Given the description of an element on the screen output the (x, y) to click on. 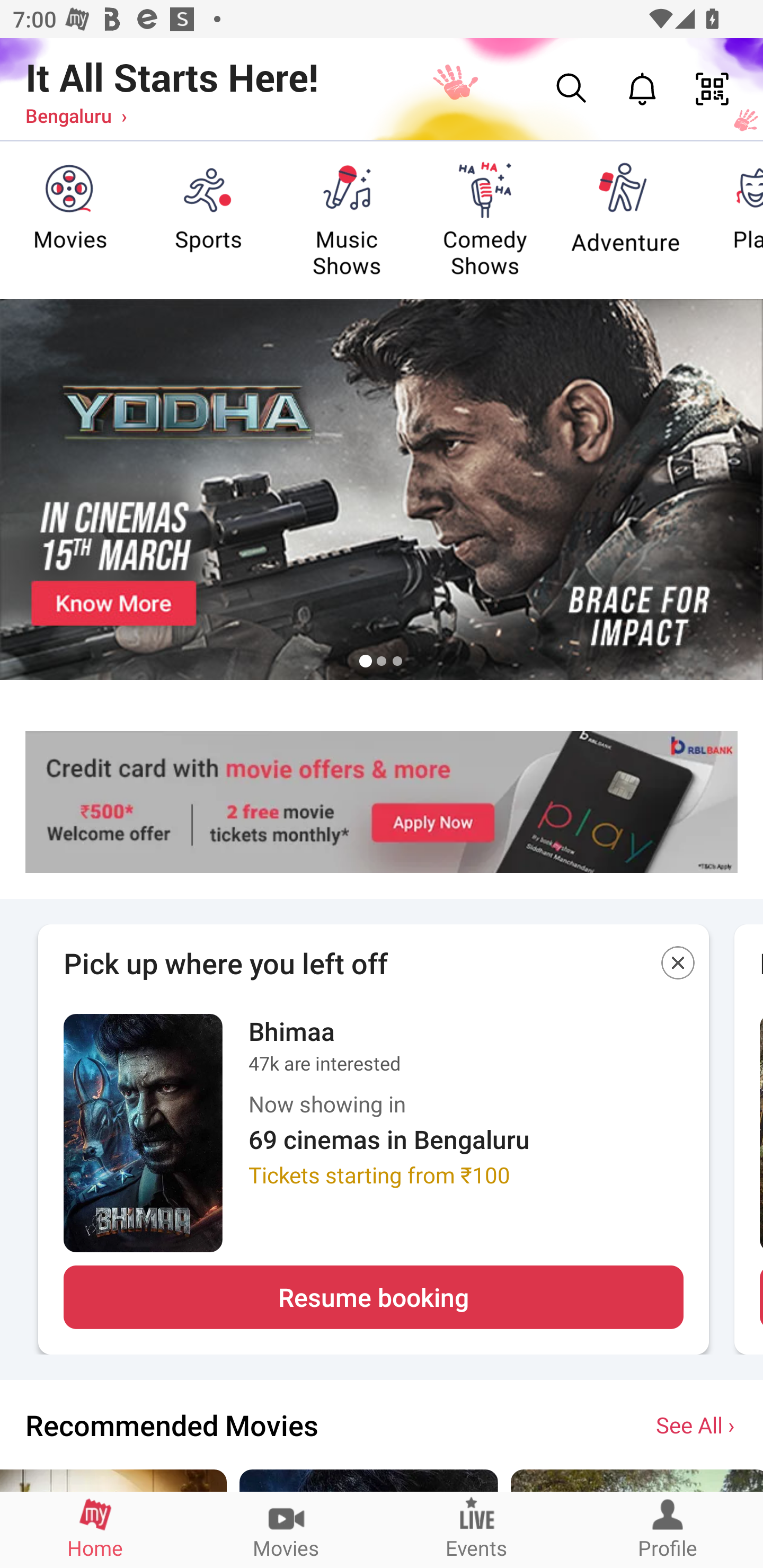
Bengaluru  › (76, 114)
  (678, 966)
Resume booking (373, 1297)
See All › (696, 1424)
Home (95, 1529)
Movies (285, 1529)
Events (476, 1529)
Profile (667, 1529)
